Given the description of an element on the screen output the (x, y) to click on. 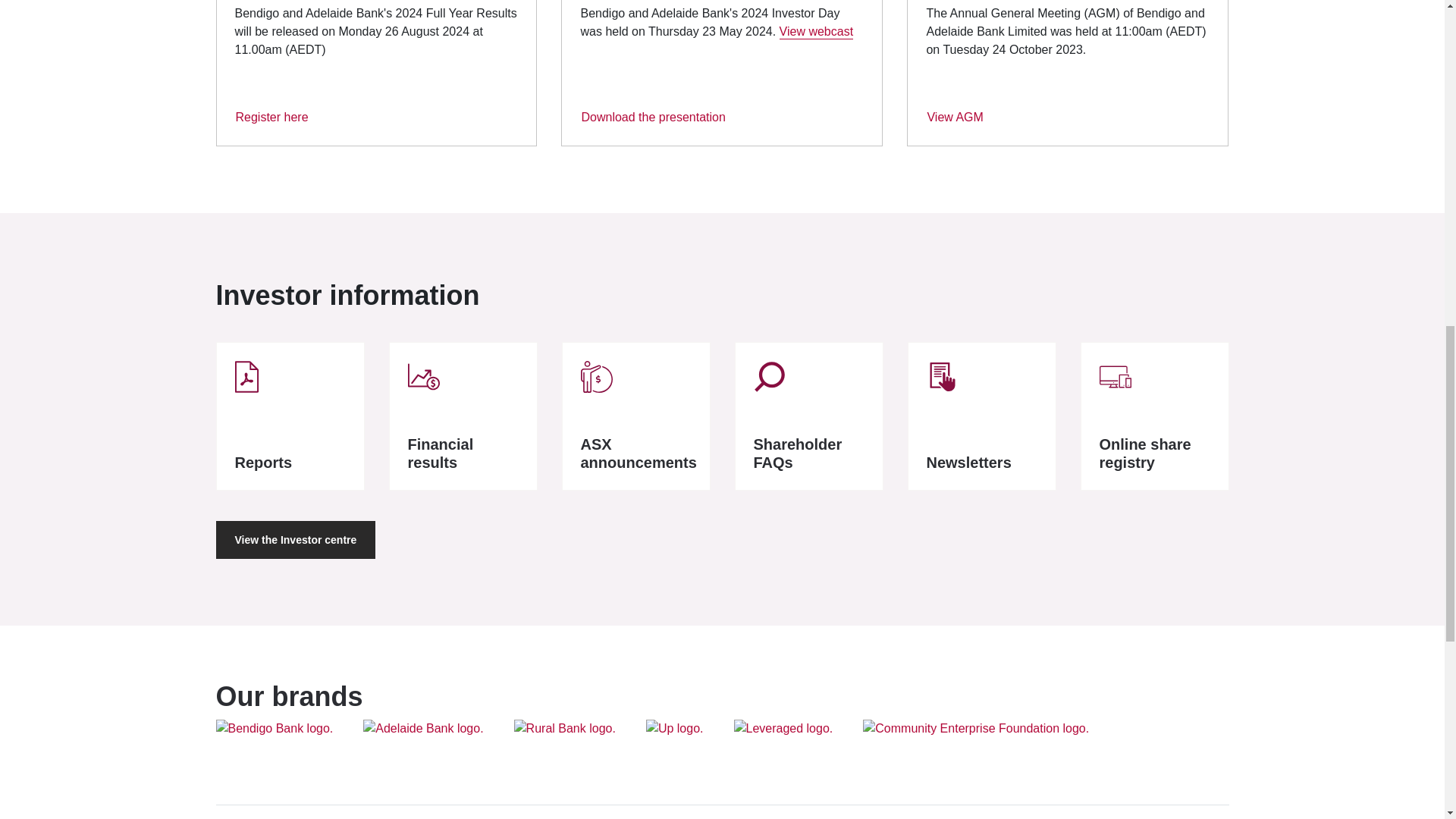
View webcast (815, 32)
View webcast (815, 32)
Download the presentation (652, 117)
Register here (271, 117)
